Given the description of an element on the screen output the (x, y) to click on. 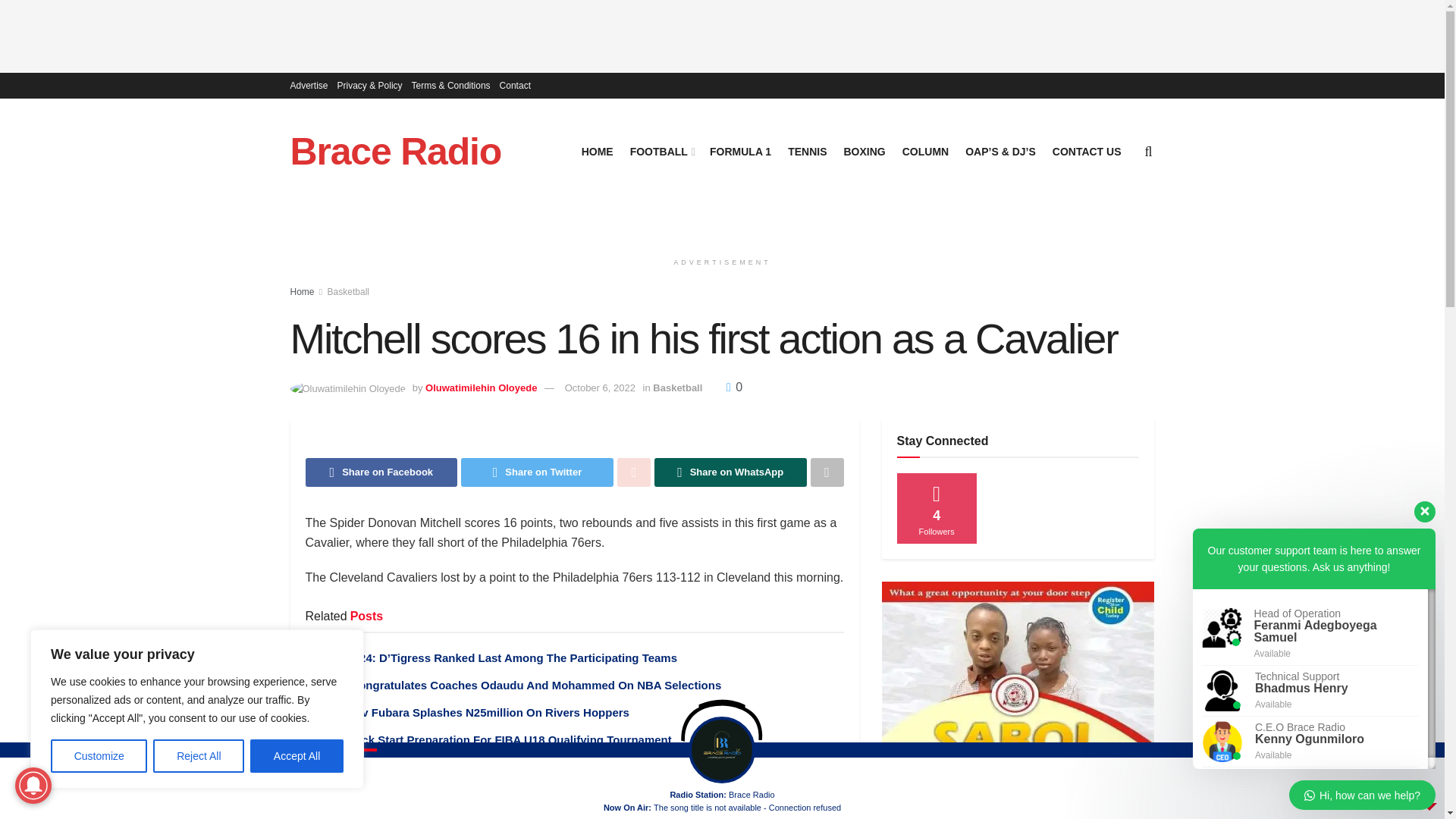
Advertisement (722, 33)
Reject All (198, 756)
Accept All (296, 756)
Contact (515, 85)
FOOTBALL (661, 151)
Next (587, 775)
HOME (596, 151)
Customize (98, 756)
Brace Radio (394, 151)
Advertise (308, 85)
Previous (560, 775)
